Given the description of an element on the screen output the (x, y) to click on. 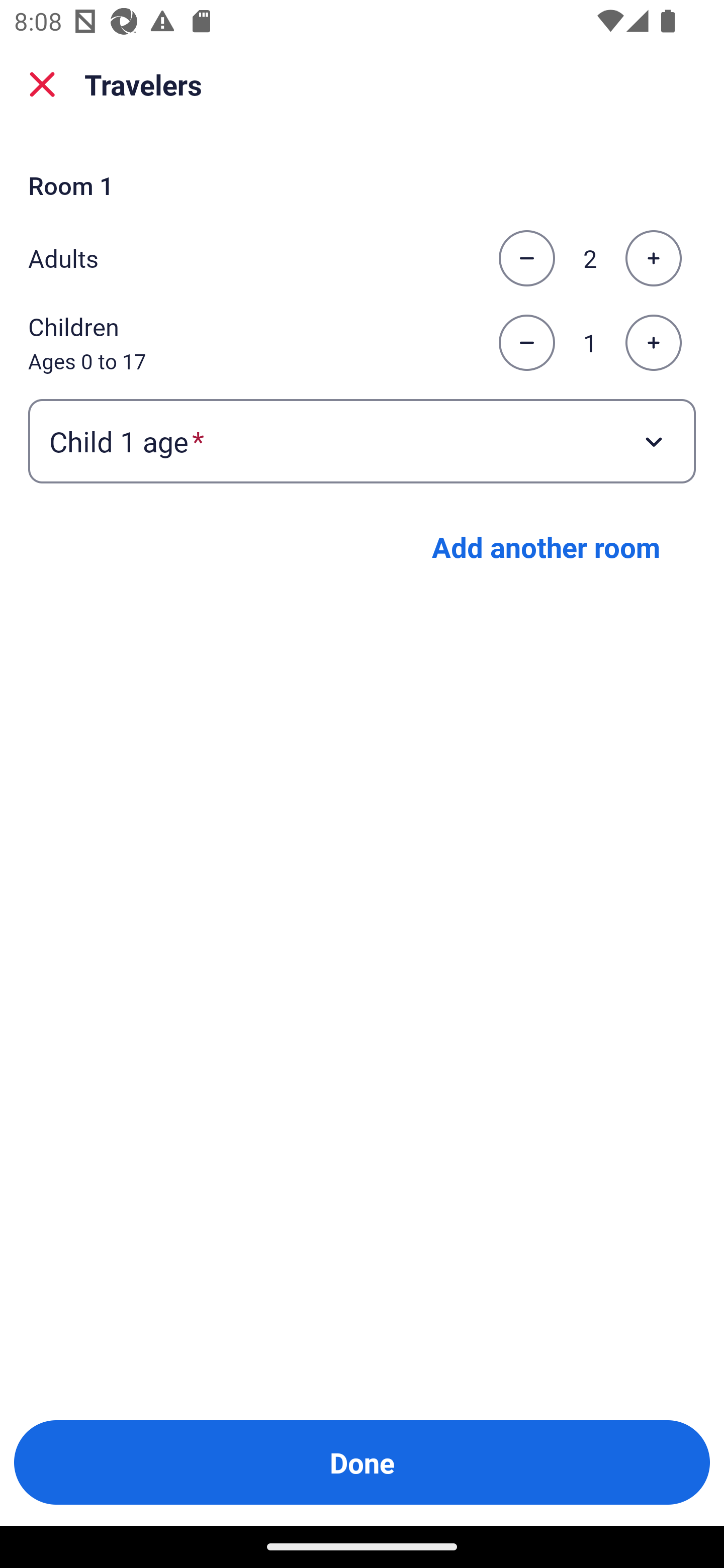
close (42, 84)
Decrease the number of adults (526, 258)
Increase the number of adults (653, 258)
Decrease the number of children (526, 343)
Increase the number of children (653, 343)
Child 1 age required Button (361, 440)
Add another room (545, 546)
Done (361, 1462)
